Given the description of an element on the screen output the (x, y) to click on. 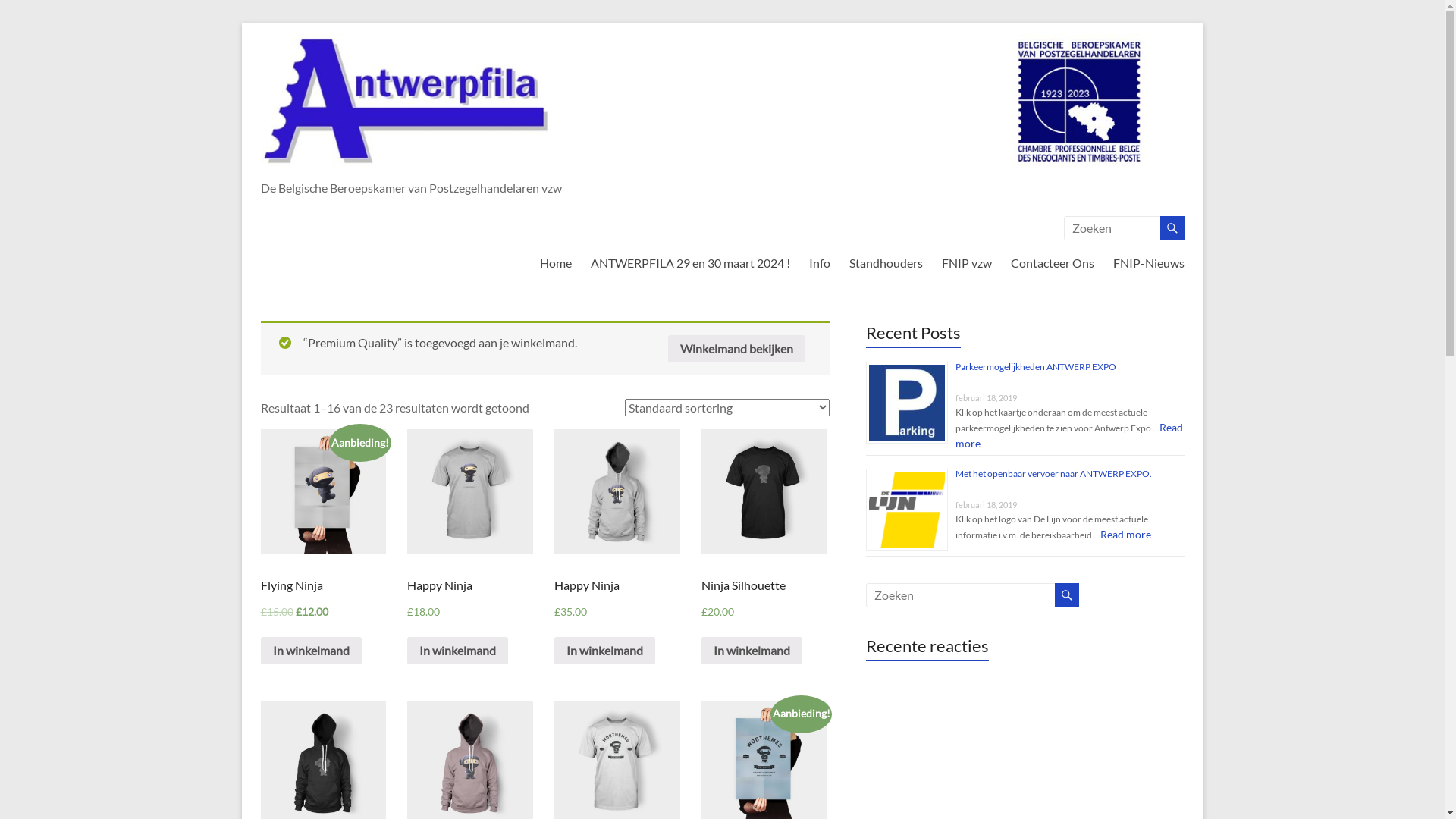
In winkelmand Element type: text (751, 650)
In winkelmand Element type: text (310, 650)
Contacteer Ons Element type: text (1051, 266)
ANTWERPFILA 29 en 30 maart 2024 ! Element type: text (689, 266)
In winkelmand Element type: text (604, 650)
Read more Element type: text (1124, 533)
Home Element type: text (555, 266)
Read more Element type: text (1069, 434)
Info Element type: text (818, 266)
FNIP vzw Element type: text (966, 266)
Winkelmand bekijken Element type: text (735, 348)
Parkeermogelijkheden ANTWERP EXPO Element type: text (1035, 366)
FNIP-Nieuws Element type: text (1148, 266)
Standhouders Element type: text (885, 266)
Met het openbaar vervoer naar ANTWERP EXPO. Element type: text (1053, 473)
In winkelmand Element type: text (457, 650)
